Given the description of an element on the screen output the (x, y) to click on. 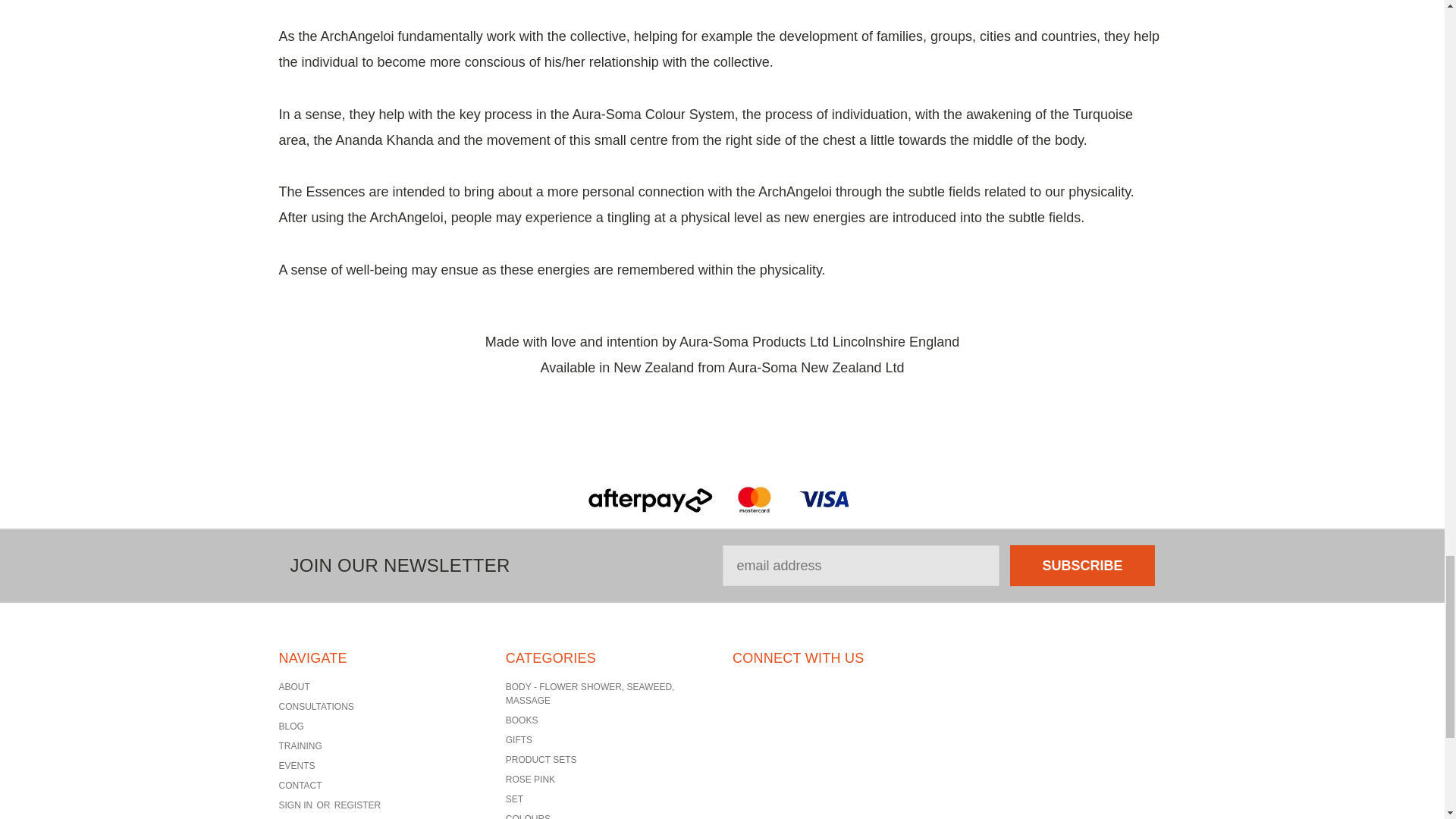
Subscribe (1082, 565)
